Given the description of an element on the screen output the (x, y) to click on. 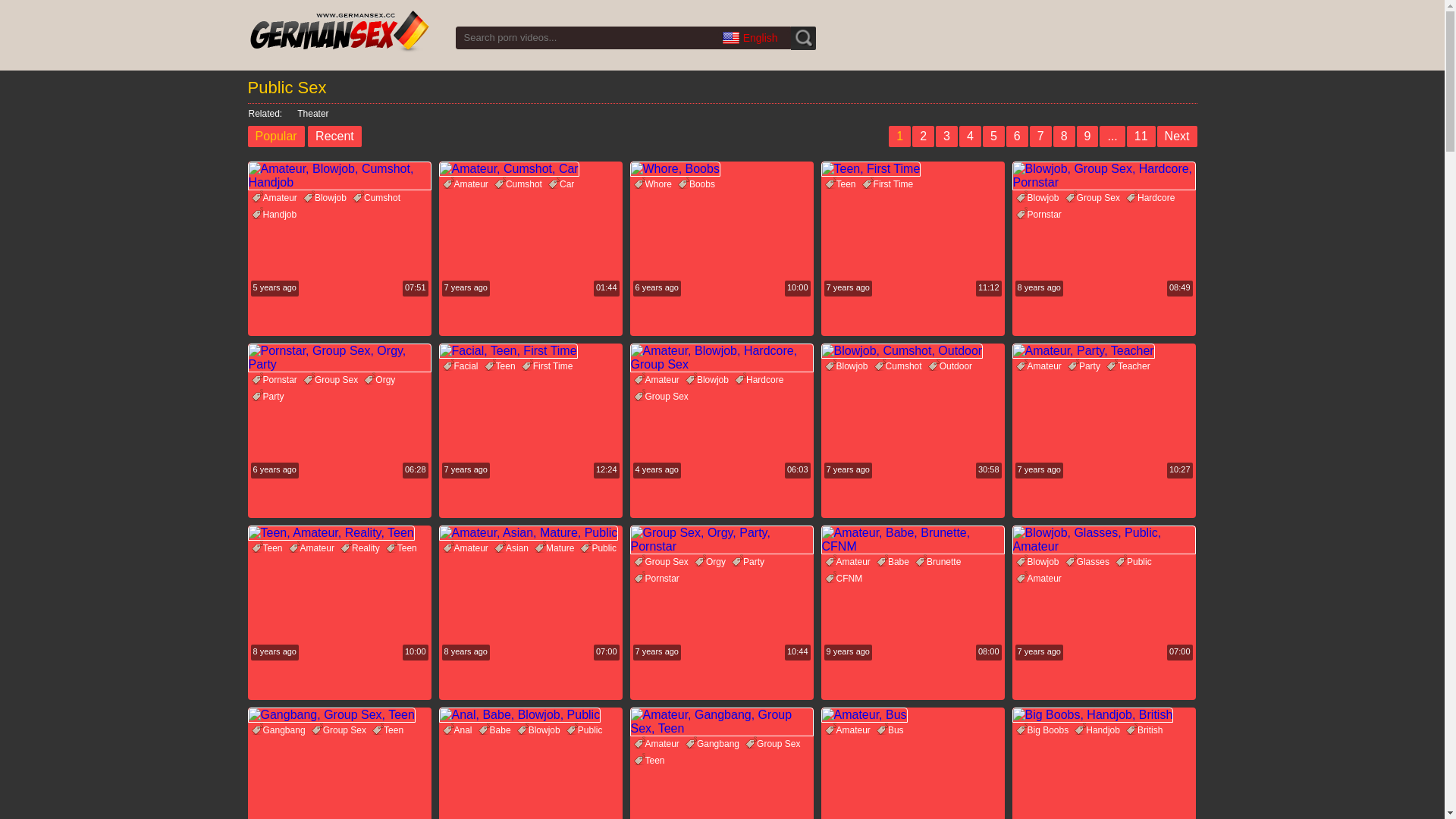
Amateur Element type: text (467, 183)
First Time Element type: text (549, 365)
Party Element type: text (749, 561)
Blowjob Element type: text (540, 729)
Teacher Element type: text (1130, 365)
Gangbang Element type: text (280, 729)
Teen Element type: text (650, 760)
Amateur, Bus Element type: hover (912, 714)
Teen Element type: text (501, 365)
Teen, Amateur, Reality, Teen Element type: hover (338, 532)
8 Element type: text (1064, 136)
Boobs Element type: text (697, 183)
Blowjob Element type: text (848, 365)
1 Element type: text (899, 136)
3 Element type: text (946, 136)
Public Element type: text (600, 547)
Glasses Element type: text (1089, 561)
11 Element type: text (1140, 136)
Amateur Element type: text (276, 197)
Pornstar Element type: text (658, 578)
Blowjob Element type: text (708, 379)
Popular Element type: text (275, 136)
Gangbang Element type: text (714, 743)
Cumshot Element type: text (899, 365)
Handjob Element type: text (276, 214)
Amateur Element type: text (849, 561)
Group Sex Element type: text (662, 396)
Pornstar, Group Sex, Orgy, Party Element type: hover (338, 357)
Amateur, Babe, Brunette, CFNM Element type: hover (912, 539)
Whore Element type: text (654, 183)
Orgy Element type: text (711, 561)
Amateur Element type: text (313, 547)
Amateur Element type: text (467, 547)
Amateur, Blowjob, Hardcore, Group Sex Element type: hover (720, 357)
9 Element type: text (1087, 136)
Teen Element type: text (389, 729)
Blowjob, Glasses, Public, Amateur Element type: hover (1103, 539)
Car Element type: text (562, 183)
Amateur Element type: text (1040, 365)
Amateur Element type: text (1040, 578)
Group Sex Element type: text (774, 743)
Anal Element type: text (459, 729)
Big Boobs Element type: text (1044, 729)
2 Element type: text (923, 136)
Amateur, Blowjob, Cumshot, Handjob Element type: hover (338, 175)
Group Sex Element type: text (662, 561)
Facial, Teen, First Time Element type: hover (529, 350)
Pornstar Element type: text (1040, 214)
Amateur Element type: text (658, 743)
Amateur, Asian, Mature, Public Element type: hover (529, 532)
Bus Element type: text (891, 729)
Amateur Element type: text (658, 379)
Blowjob, Group Sex, Hardcore, Pornstar Element type: hover (1103, 175)
... Element type: text (1111, 136)
Brunette Element type: text (939, 561)
Recent Element type: text (334, 136)
Party Element type: text (269, 396)
Amateur, Party, Teacher Element type: hover (1103, 350)
CFNM Element type: text (845, 578)
Group Sex Element type: text (332, 379)
Blowjob, Cumshot, Outdoor Element type: hover (912, 350)
Teen Element type: text (402, 547)
Anal, Babe, Blowjob, Public Element type: hover (529, 714)
Cumshot Element type: text (378, 197)
Public Element type: text (1135, 561)
British Element type: text (1146, 729)
Reality Element type: text (361, 547)
Handjob Element type: text (1098, 729)
Teen Element type: text (842, 183)
Cumshot Element type: text (520, 183)
Group Sex Element type: text (1094, 197)
Babe Element type: text (894, 561)
Party Element type: text (1085, 365)
Asian Element type: text (513, 547)
4 Element type: text (970, 136)
Teen, First Time Element type: hover (912, 168)
Group Sex, Orgy, Party, Pornstar Element type: hover (720, 539)
Teen Element type: text (268, 547)
5 Element type: text (993, 136)
Theater Element type: text (306, 113)
Blowjob Element type: text (326, 197)
First Time Element type: text (889, 183)
Blowjob Element type: text (1039, 197)
Gangbang, Group Sex, Teen Element type: hover (338, 714)
Group Sex Element type: text (340, 729)
Babe Element type: text (496, 729)
Amateur Element type: text (849, 729)
Facial Element type: text (462, 365)
7 Element type: text (1040, 136)
Blowjob Element type: text (1039, 561)
Whore, Boobs Element type: hover (720, 168)
Orgy Element type: text (381, 379)
6 Element type: text (1017, 136)
Big Boobs, Handjob, British Element type: hover (1103, 714)
Hardcore Element type: text (760, 379)
Amateur, Cumshot, Car Element type: hover (529, 168)
Amateur, Gangbang, Group Sex, Teen Element type: hover (720, 721)
Public Element type: text (586, 729)
Hardcore Element type: text (1152, 197)
Next Element type: text (1177, 136)
Outdoor Element type: text (951, 365)
Mature Element type: text (555, 547)
Pornstar Element type: text (276, 379)
